Given the description of an element on the screen output the (x, y) to click on. 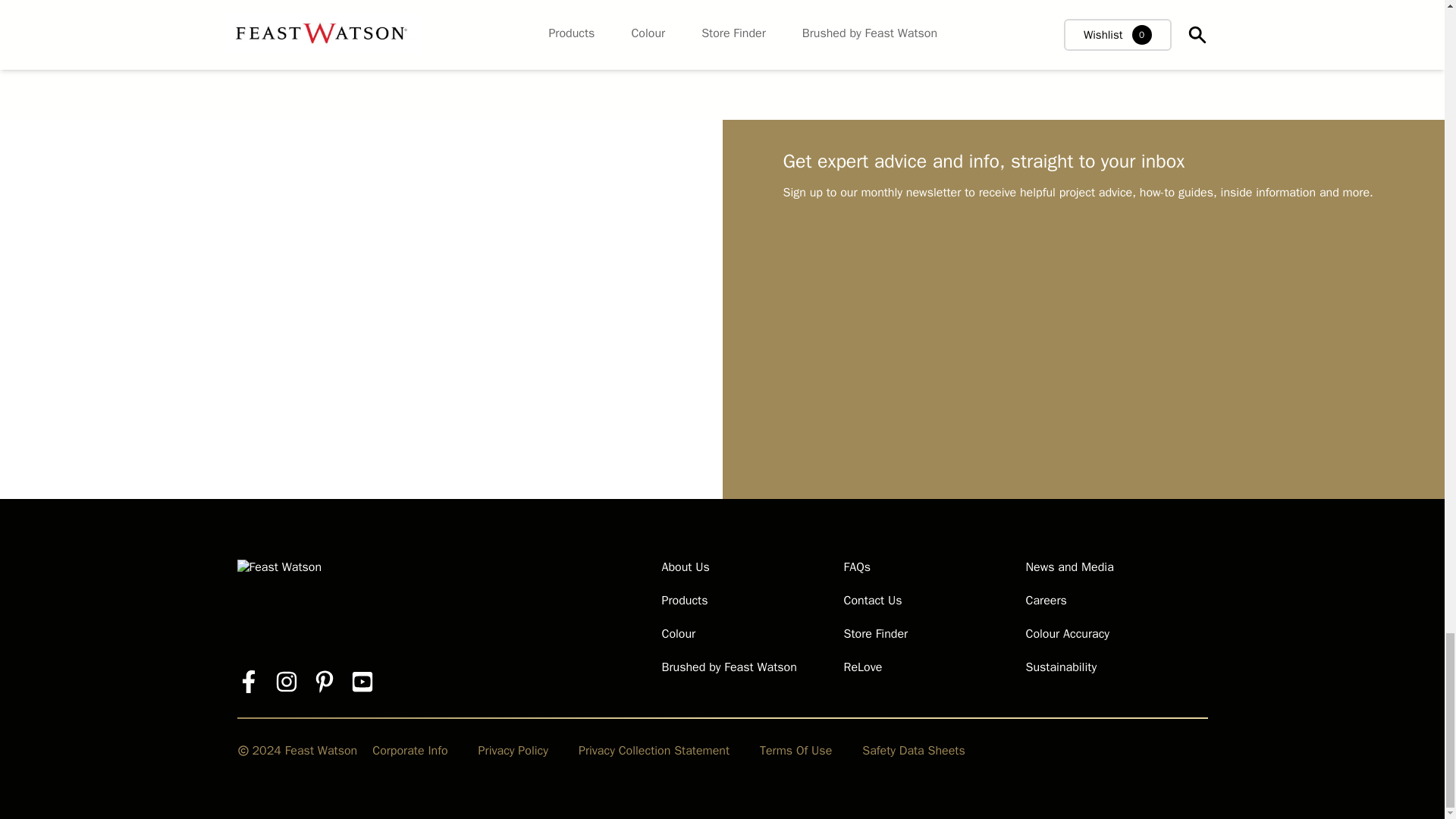
About Us (685, 566)
Corporate Info (409, 750)
Contact Us (872, 600)
News and Media (1069, 566)
Store Finder (875, 633)
View guide (775, 28)
Sustainability (1060, 667)
Brushed by Feast Watson (728, 667)
Careers (1045, 600)
Products (684, 600)
